Given the description of an element on the screen output the (x, y) to click on. 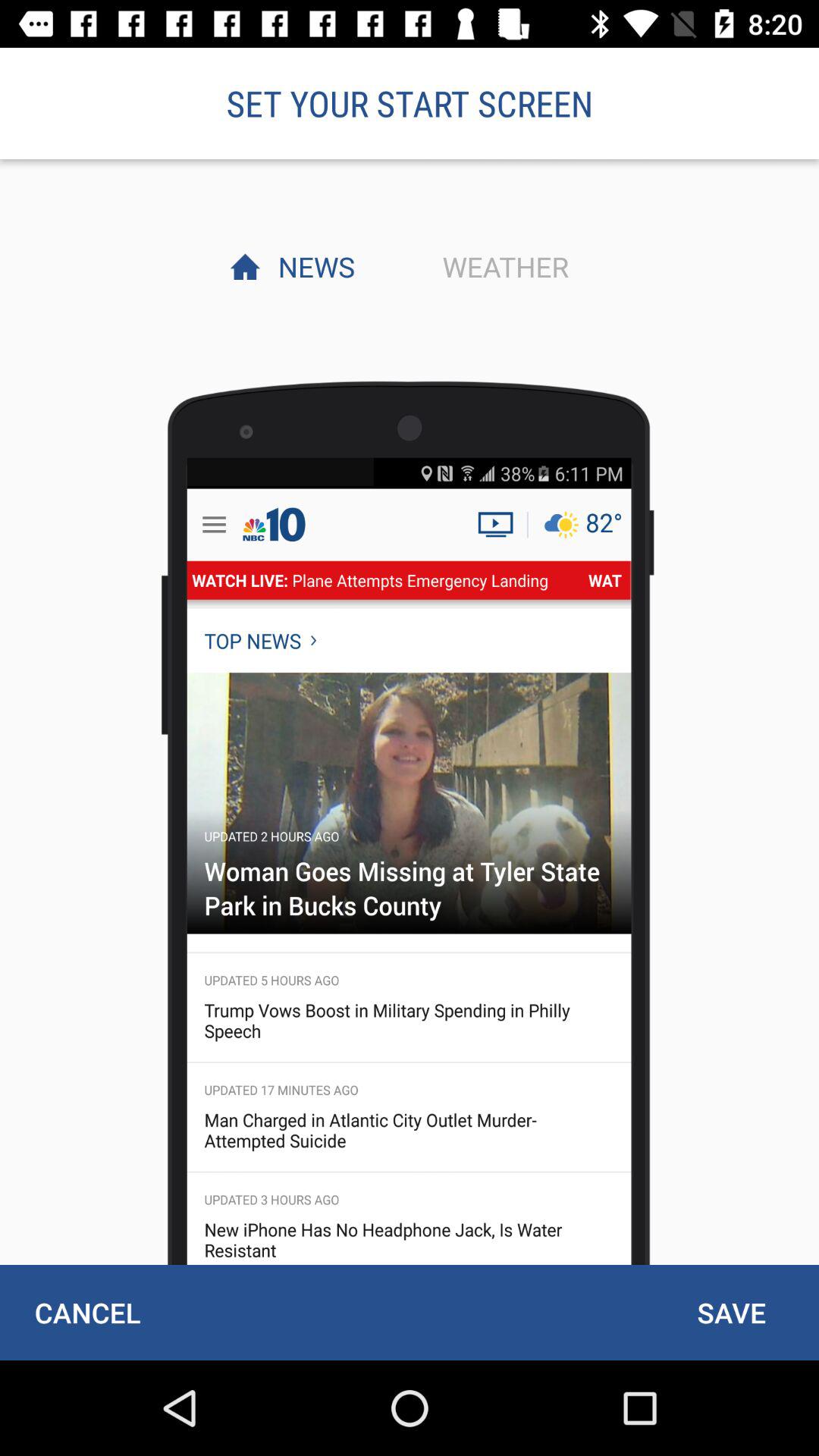
press the item to the left of save (87, 1312)
